Given the description of an element on the screen output the (x, y) to click on. 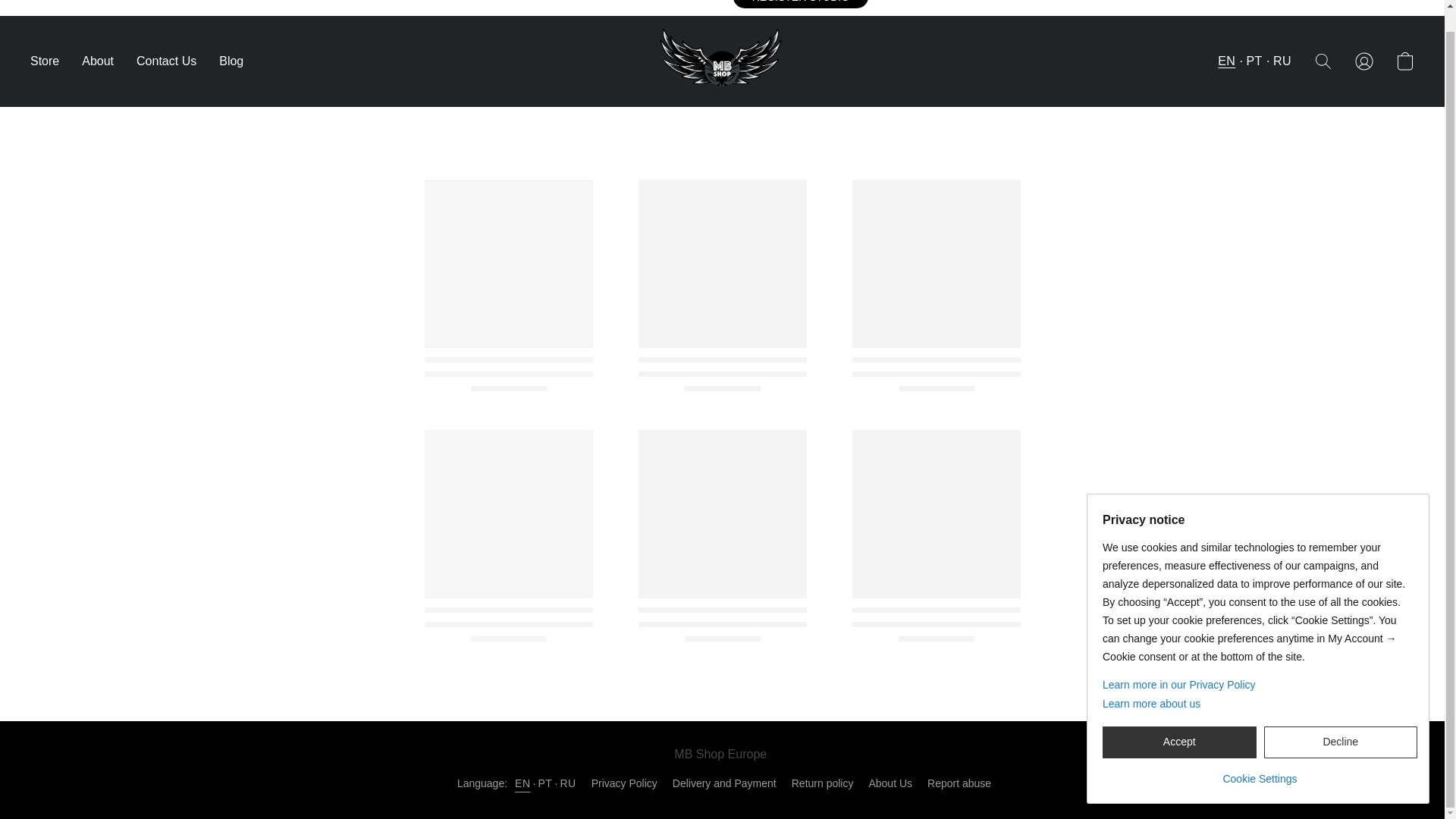
Search the website (1323, 61)
Blog (225, 61)
Delivery and Payment (724, 782)
Contact Us (166, 61)
Cookie Settings (1259, 750)
Learn more in our Privacy Policy (1259, 662)
Privacy Policy (624, 782)
REGISTER STUDIO (800, 4)
About (97, 61)
Decline (1339, 720)
